Given the description of an element on the screen output the (x, y) to click on. 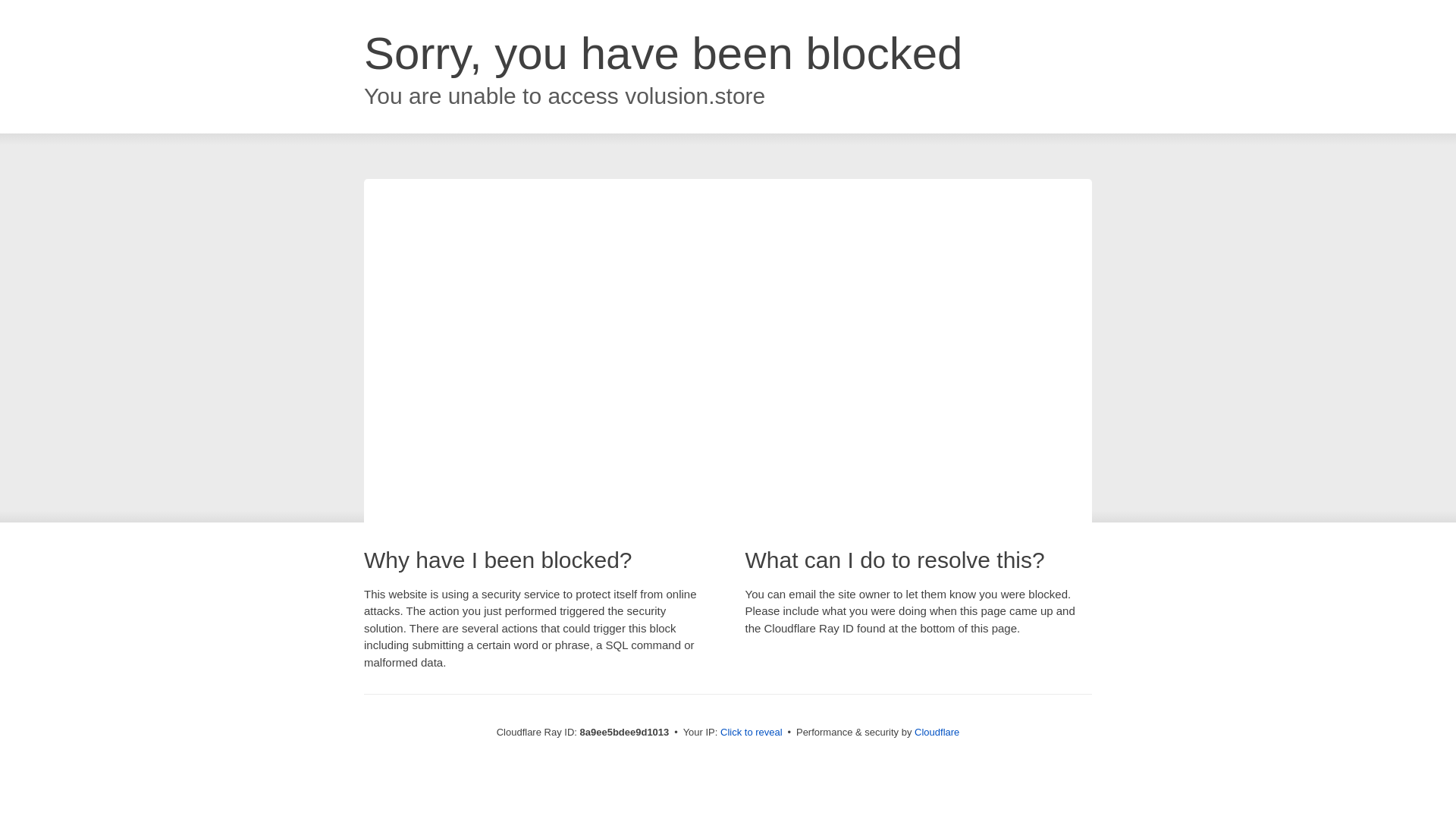
Cloudflare (936, 731)
Click to reveal (751, 732)
